Given the description of an element on the screen output the (x, y) to click on. 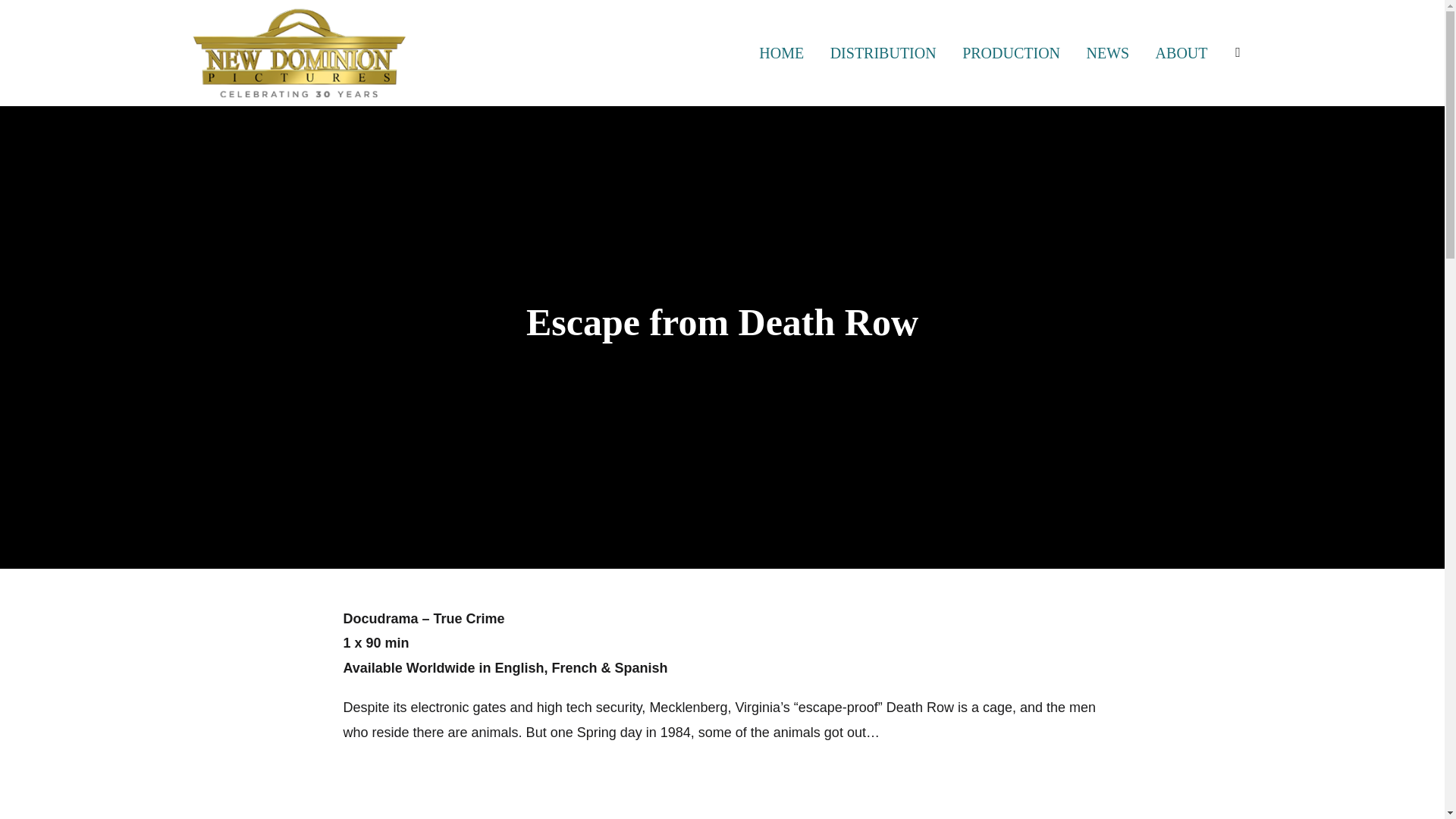
HOME (780, 52)
Search (15, 15)
PRODUCTION (1010, 52)
NEWS (1107, 52)
Escape From Death Row Trailer (721, 789)
DISTRIBUTION (882, 52)
ABOUT (1182, 52)
